Given the description of an element on the screen output the (x, y) to click on. 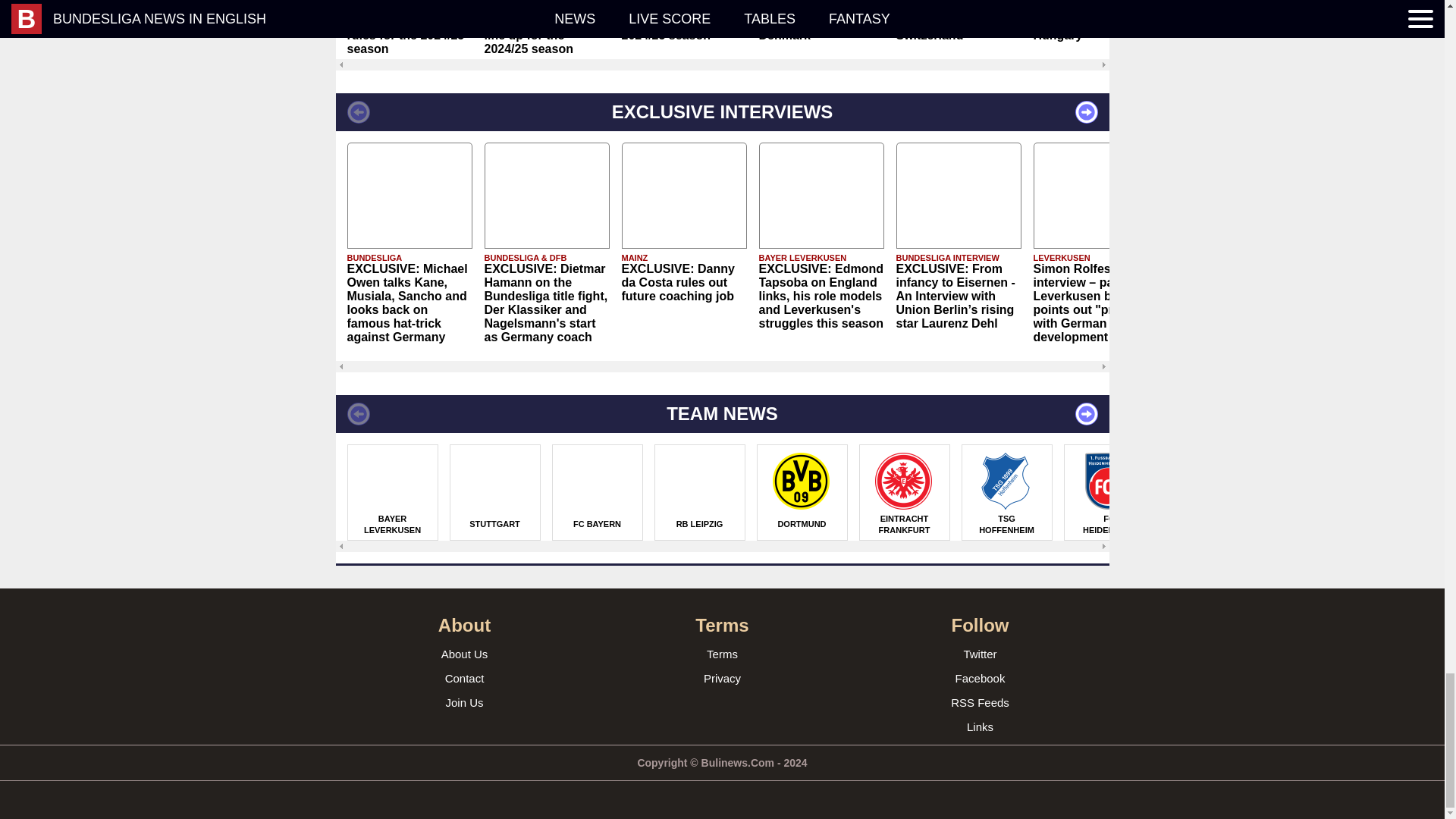
EXCLUSIVE INTERVIEWS (721, 112)
TEAM NEWS (721, 413)
